Given the description of an element on the screen output the (x, y) to click on. 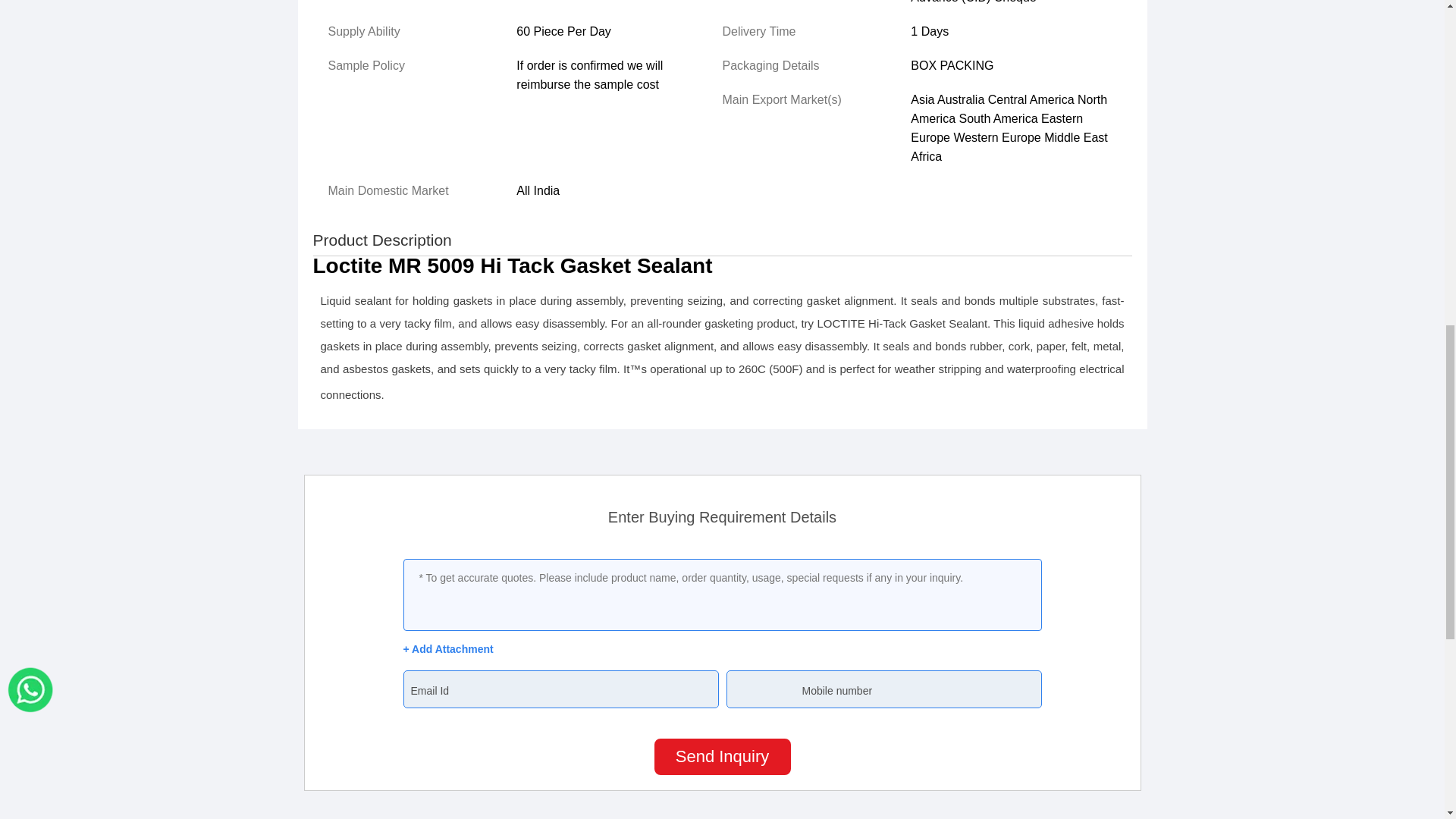
Send Inquiry (721, 756)
